Given the description of an element on the screen output the (x, y) to click on. 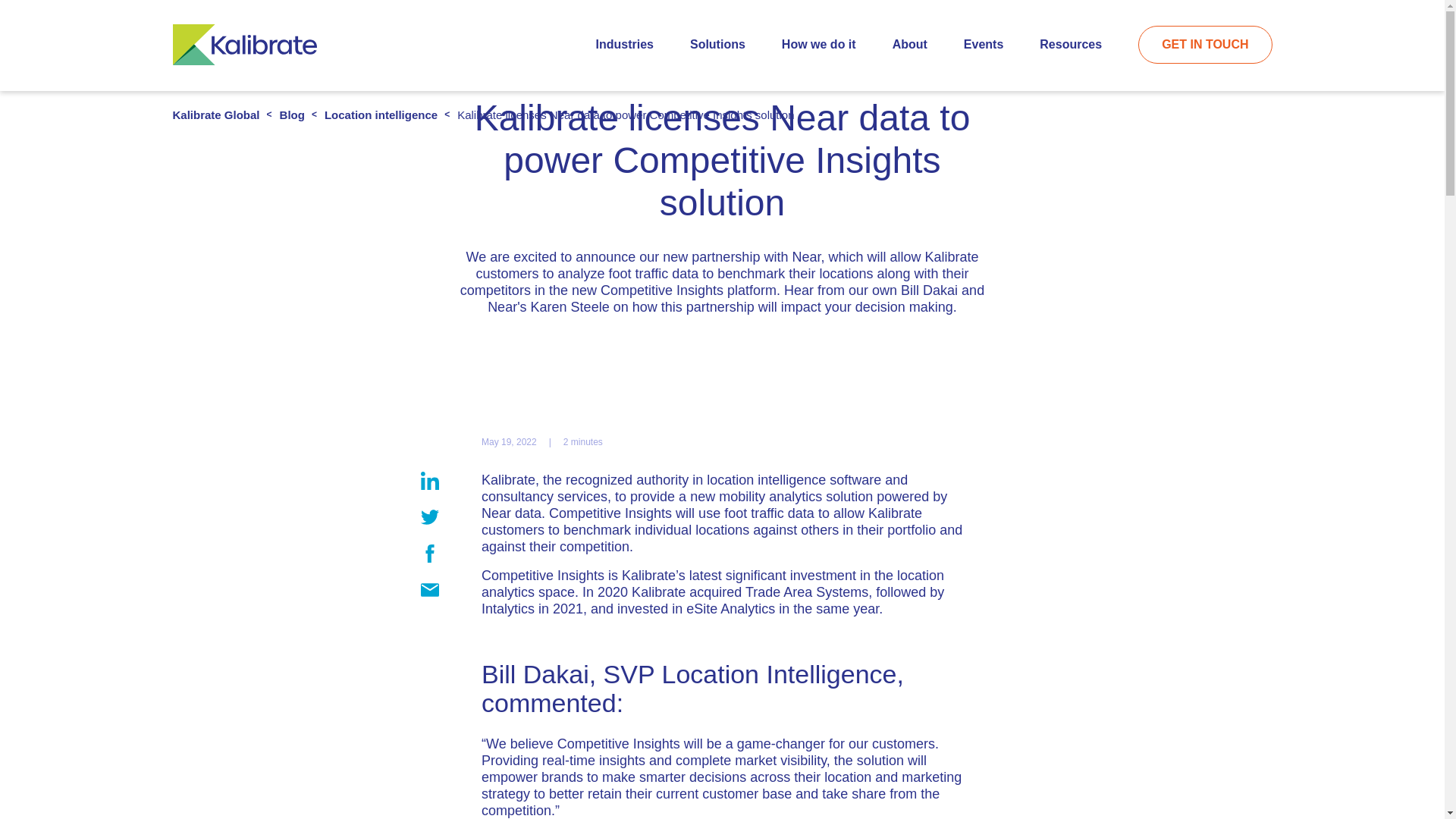
Go to Blog. (291, 114)
Go to the Location intelligence Category archives. (381, 114)
Industries (623, 44)
Go to Kalibrate Global. (216, 114)
Solutions (717, 44)
How we do it (818, 44)
